Given the description of an element on the screen output the (x, y) to click on. 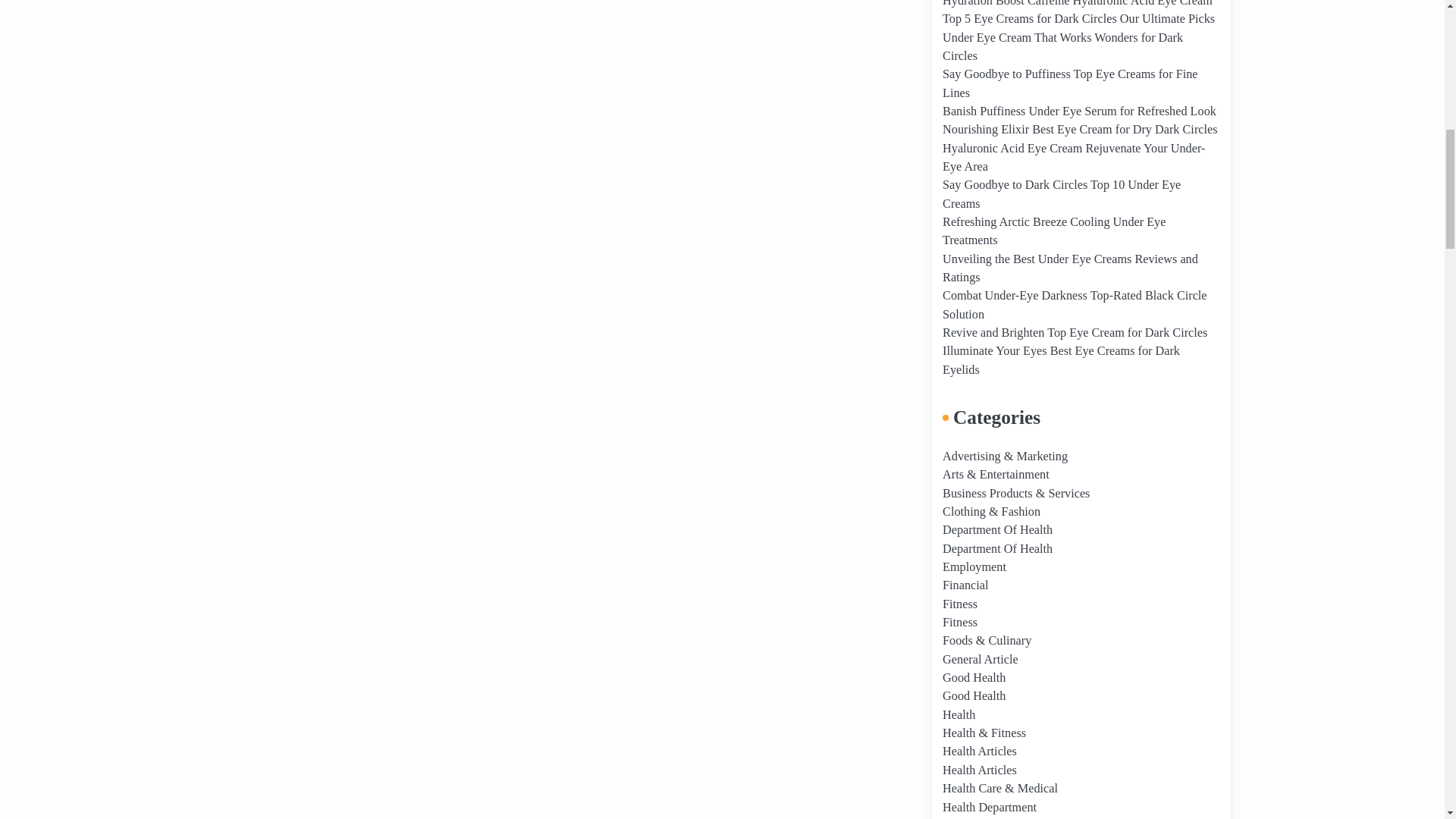
Under Eye Cream That Works Wonders for Dark Circles (1062, 47)
Unveiling the Best Under Eye Creams Reviews and Ratings (1070, 268)
Refreshing Arctic Breeze Cooling Under Eye Treatments (1054, 231)
Say Goodbye to Puffiness Top Eye Creams for Fine Lines (1069, 83)
Say Goodbye to Dark Circles Top 10 Under Eye Creams (1061, 193)
Banish Puffiness Under Eye Serum for Refreshed Look (1078, 110)
Top 5 Eye Creams for Dark Circles Our Ultimate Picks (1078, 18)
Nourishing Elixir Best Eye Cream for Dry Dark Circles (1079, 129)
Hyaluronic Acid Eye Cream Rejuvenate Your Under-Eye Area (1073, 157)
Hydration Boost Caffeine Hyaluronic Acid Eye Cream (1077, 3)
